Given the description of an element on the screen output the (x, y) to click on. 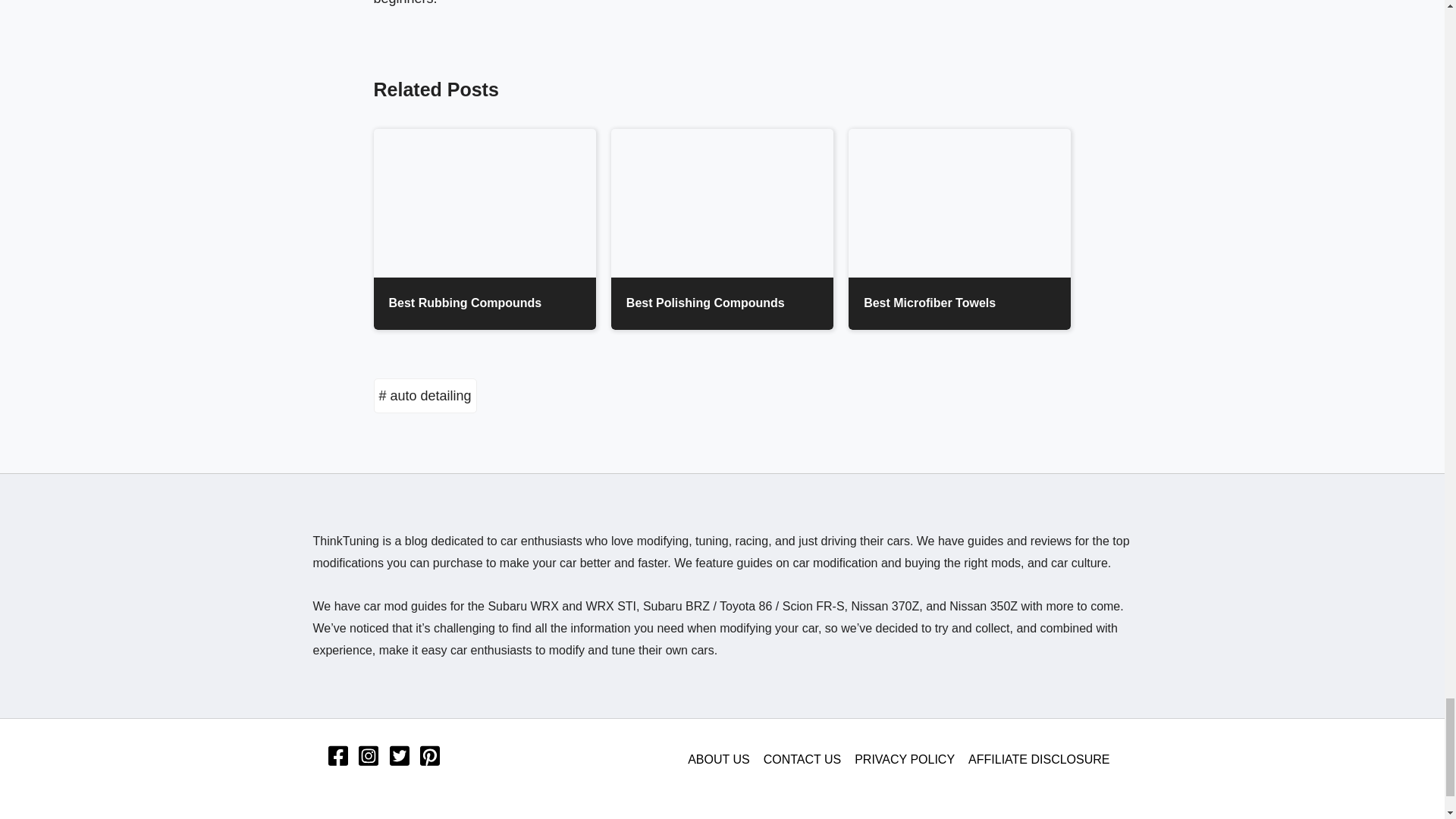
Best Rubbing Compounds (483, 228)
Best Polishing Compounds (721, 228)
